Given the description of an element on the screen output the (x, y) to click on. 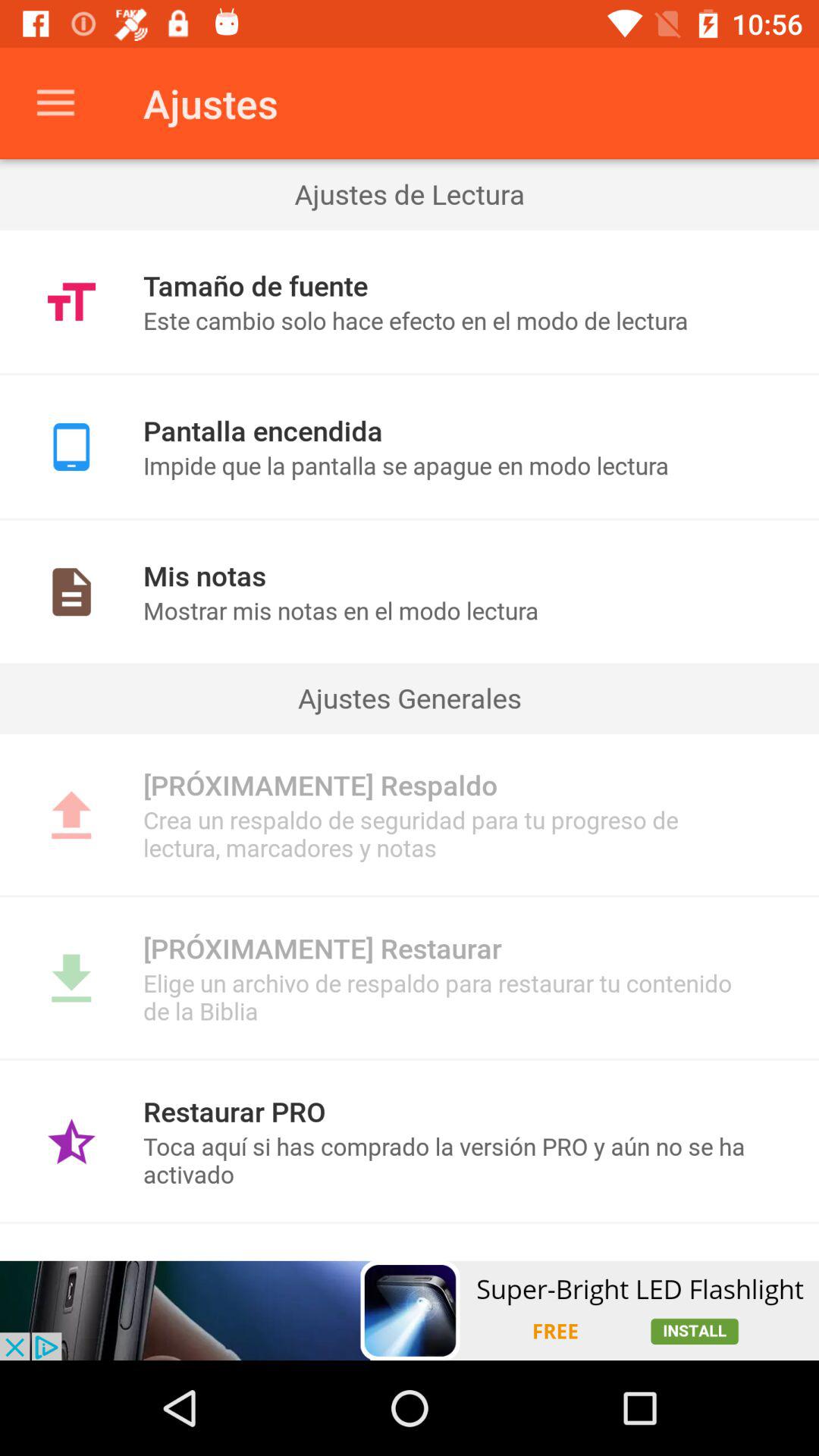
switch autoplay (409, 1310)
